Given the description of an element on the screen output the (x, y) to click on. 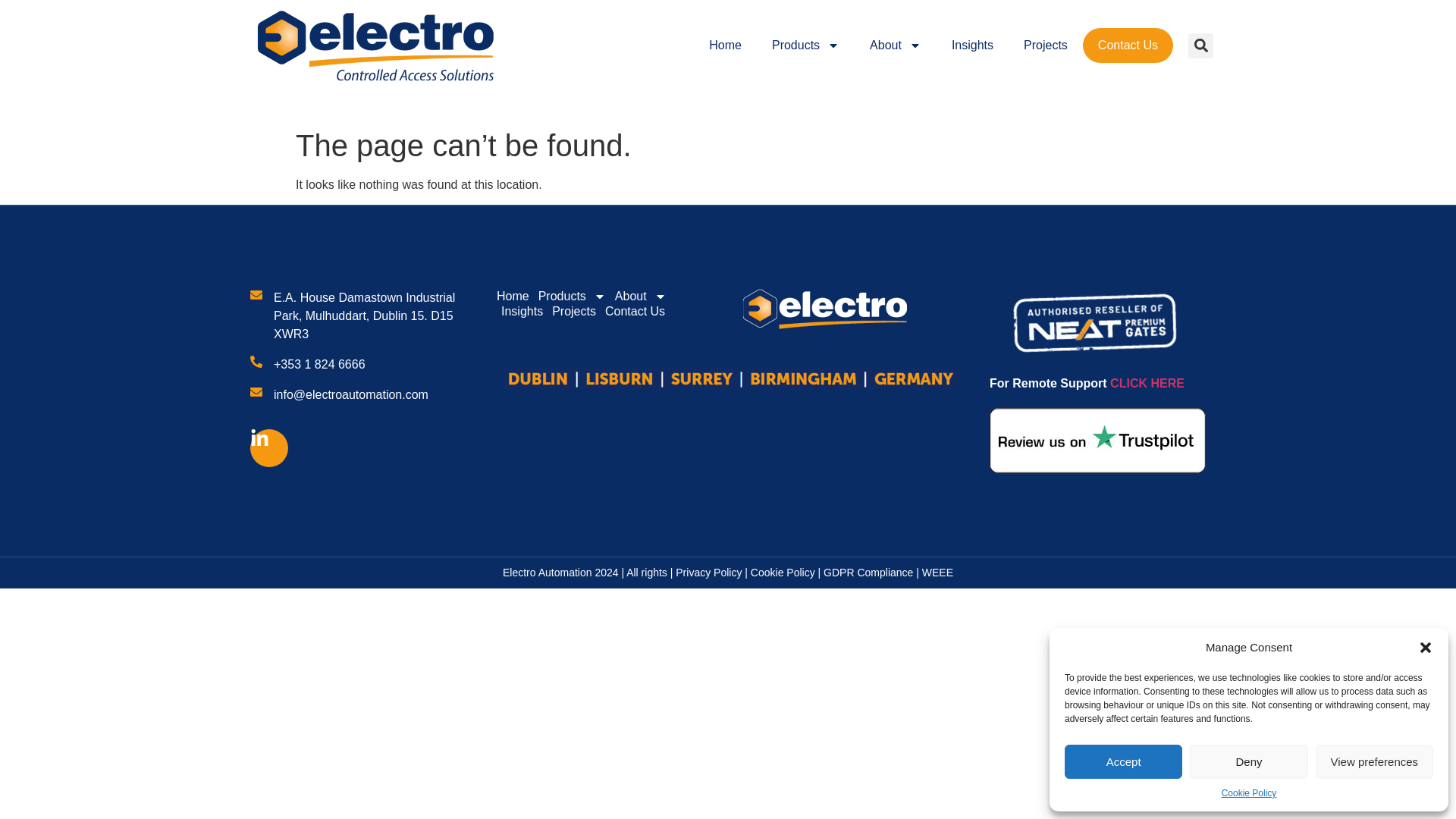
Insights (972, 45)
Projects (1046, 45)
About (895, 45)
Products (805, 45)
Home (725, 45)
Contact Us (1128, 45)
